Given the description of an element on the screen output the (x, y) to click on. 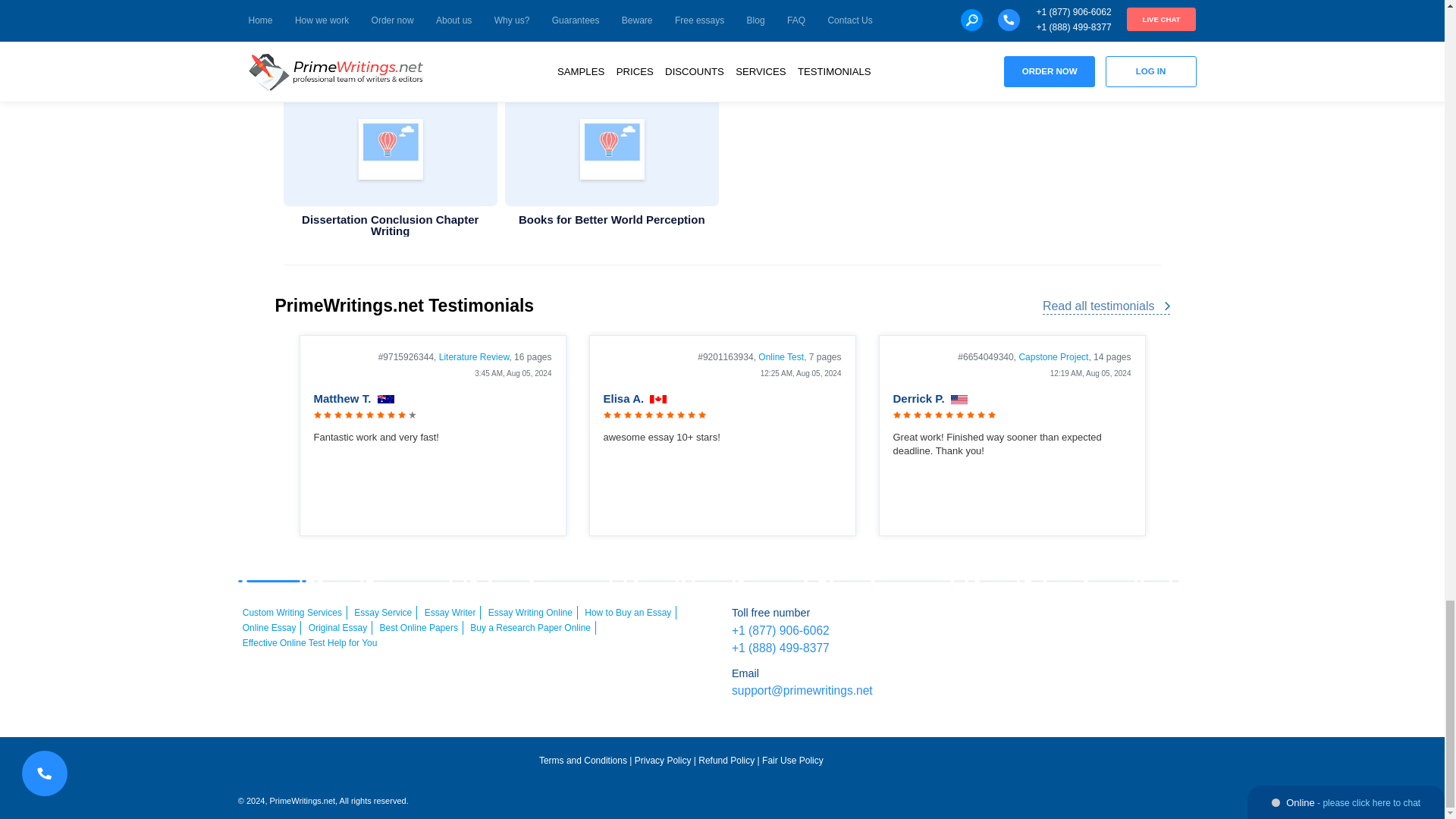
Credit cards by American Express (1091, 622)
USA (959, 399)
Share on Twitter (1101, 33)
Canada (657, 399)
Apple pay (1133, 622)
Credit and debit cards by MasterCard (1048, 622)
Share on Facebook (1060, 33)
Australia (385, 399)
Credit and debit cards by Visa (1005, 622)
Dissertation Conclusion Chapter Writing (390, 149)
Share on Pinterest (1141, 33)
Books for Better World Perception (612, 149)
